Given the description of an element on the screen output the (x, y) to click on. 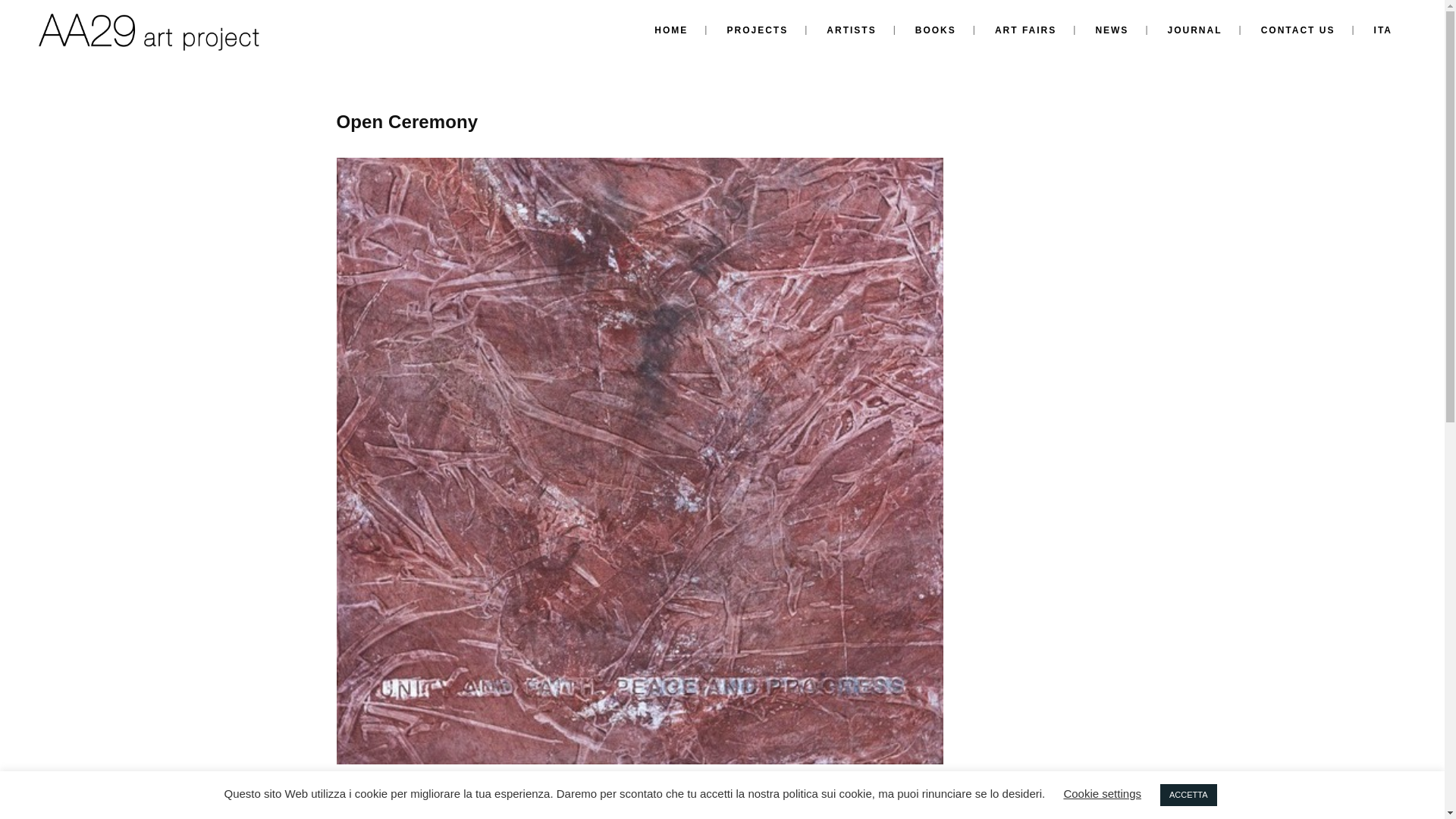
CONTACT US (1298, 30)
ARTISTS (850, 30)
BOOKS (935, 30)
JOURNAL (1195, 30)
NEWS (1112, 30)
PROJECTS (756, 30)
ACCETTA (1188, 794)
ITA (1382, 30)
ART FAIRS (1025, 30)
Cookie settings (1101, 793)
Italiano (1382, 30)
HOME (671, 30)
